Given the description of an element on the screen output the (x, y) to click on. 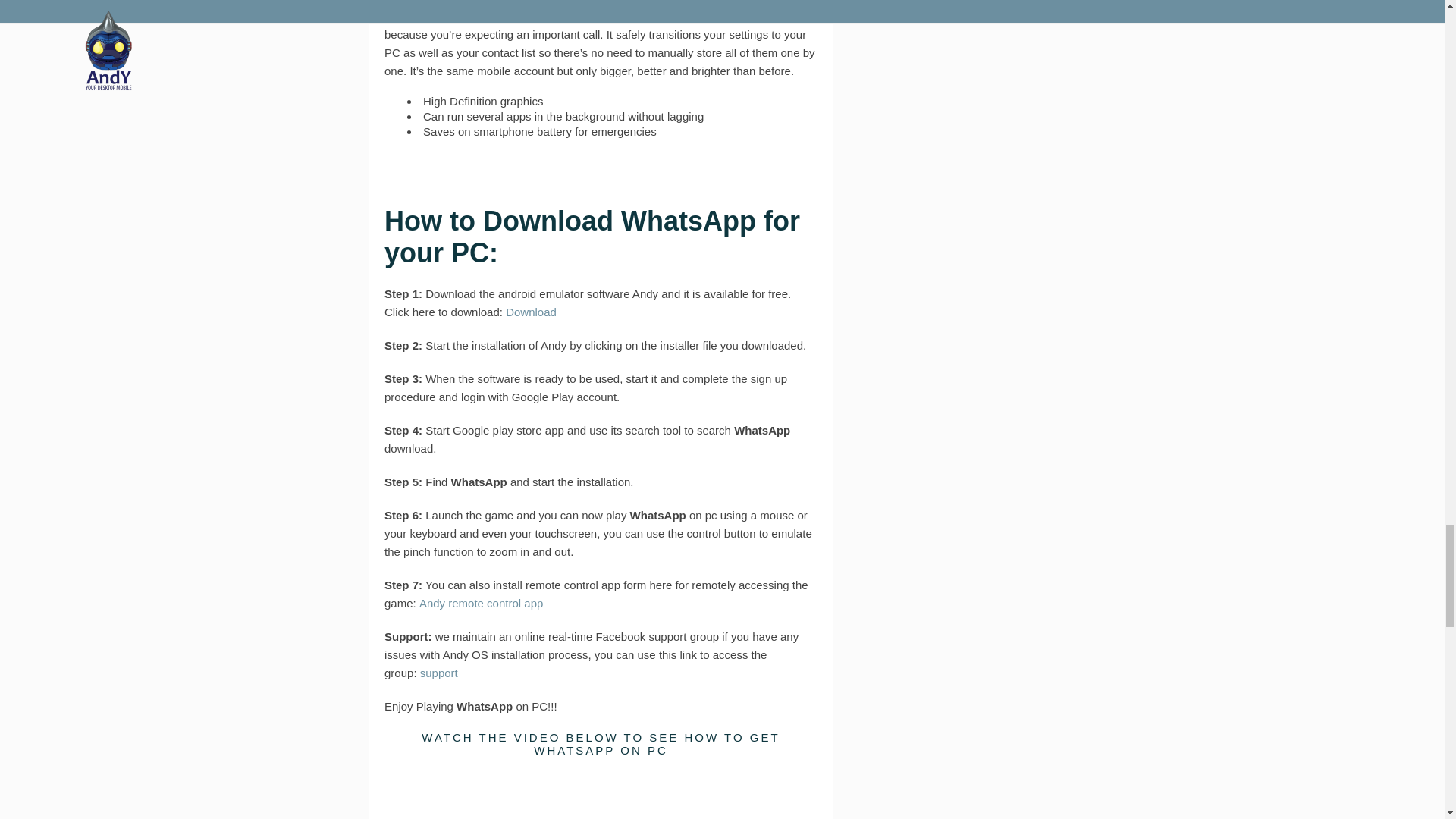
support (439, 431)
Andy remote control app (481, 360)
Download (530, 69)
